Given the description of an element on the screen output the (x, y) to click on. 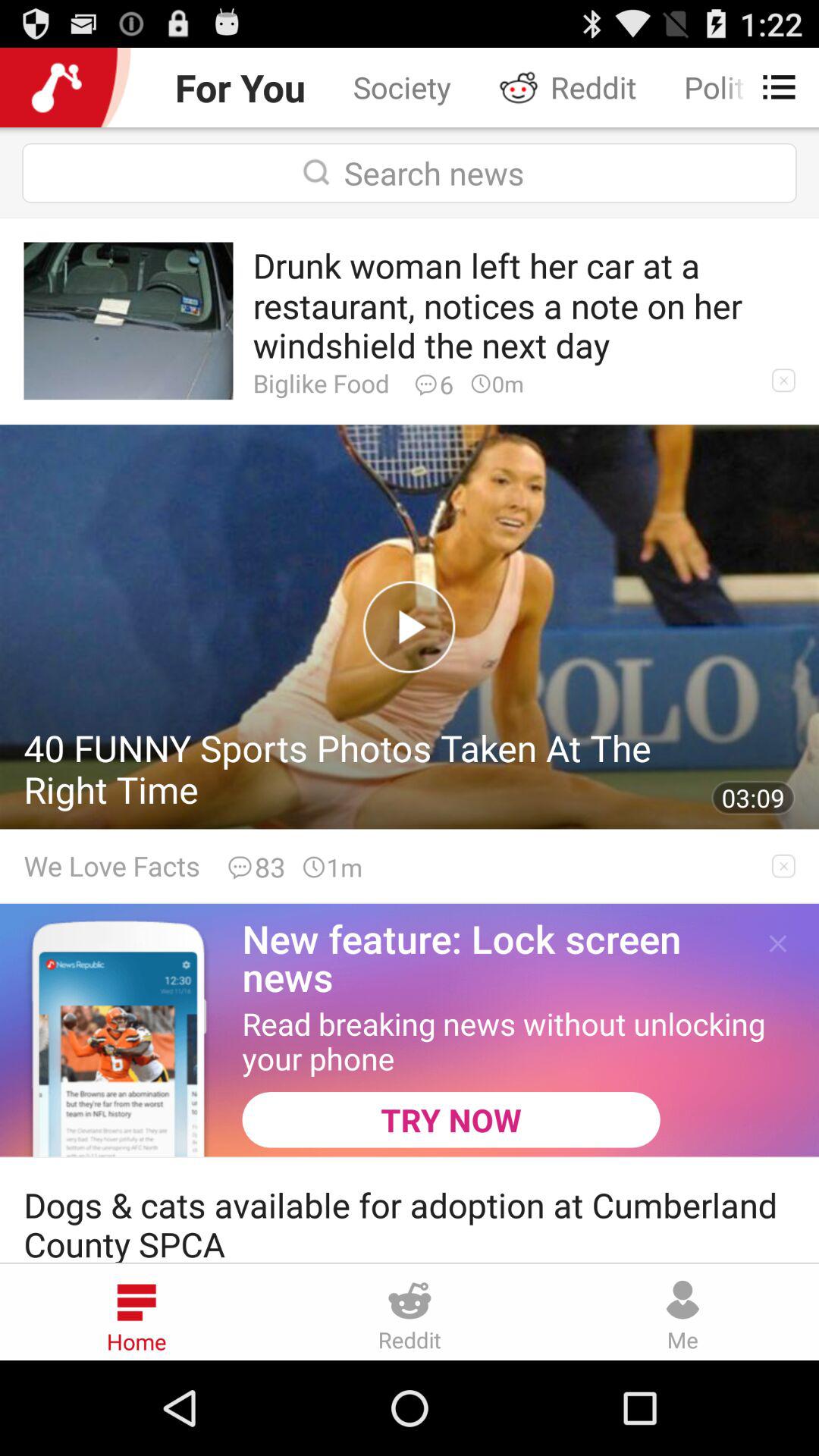
swipe until the try now icon (451, 1119)
